Given the description of an element on the screen output the (x, y) to click on. 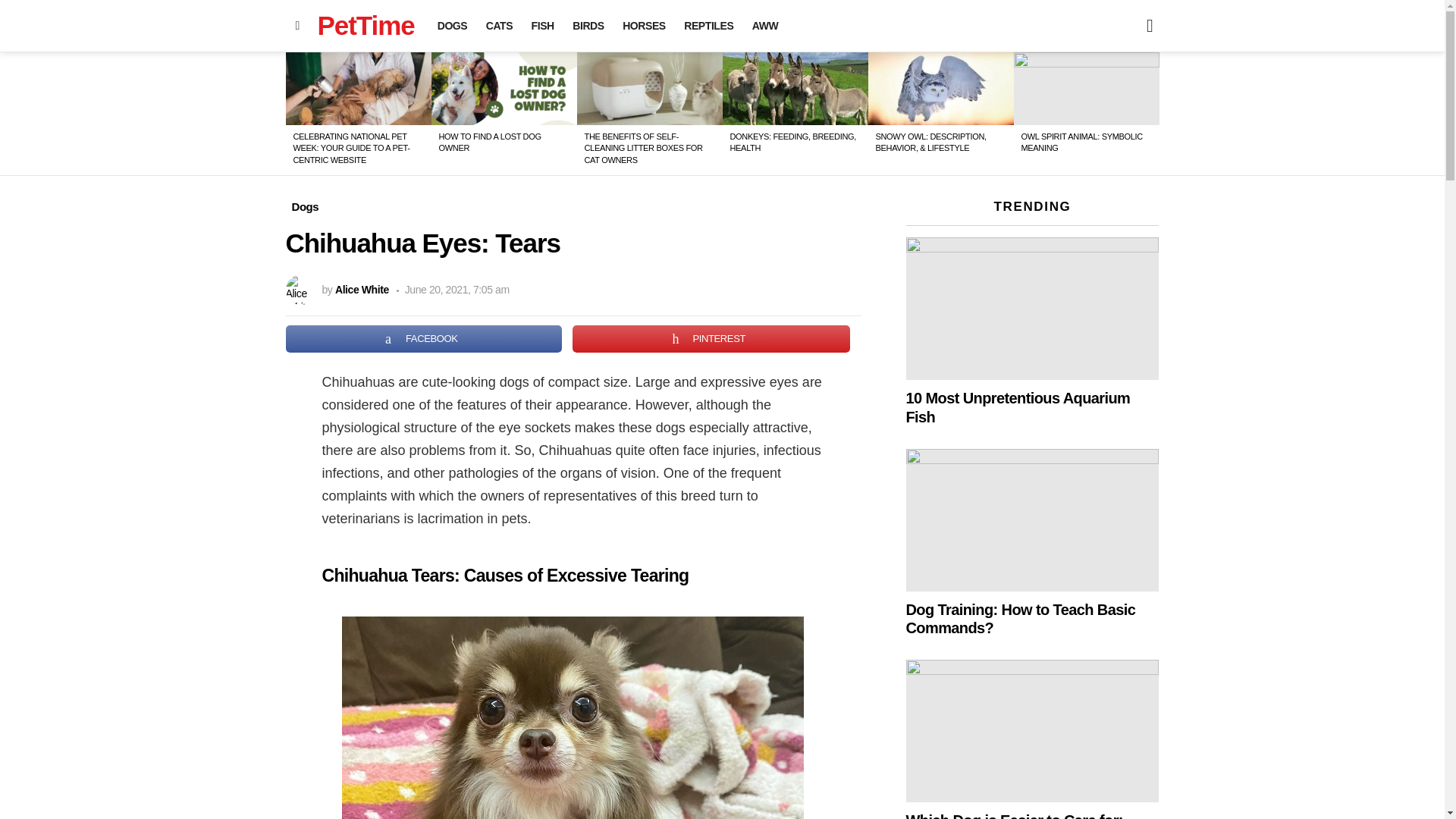
FACEBOOK (422, 338)
REPTILES (709, 25)
The Benefits of Self-Cleaning Litter Boxes for Cat Owners (649, 88)
HORSES (643, 25)
Owl Spirit Animal: Symbolic Meaning (1085, 88)
FISH (543, 25)
DONKEYS: FEEDING, BREEDING, HEALTH (792, 141)
Share on Pinterest (711, 338)
